Given the description of an element on the screen output the (x, y) to click on. 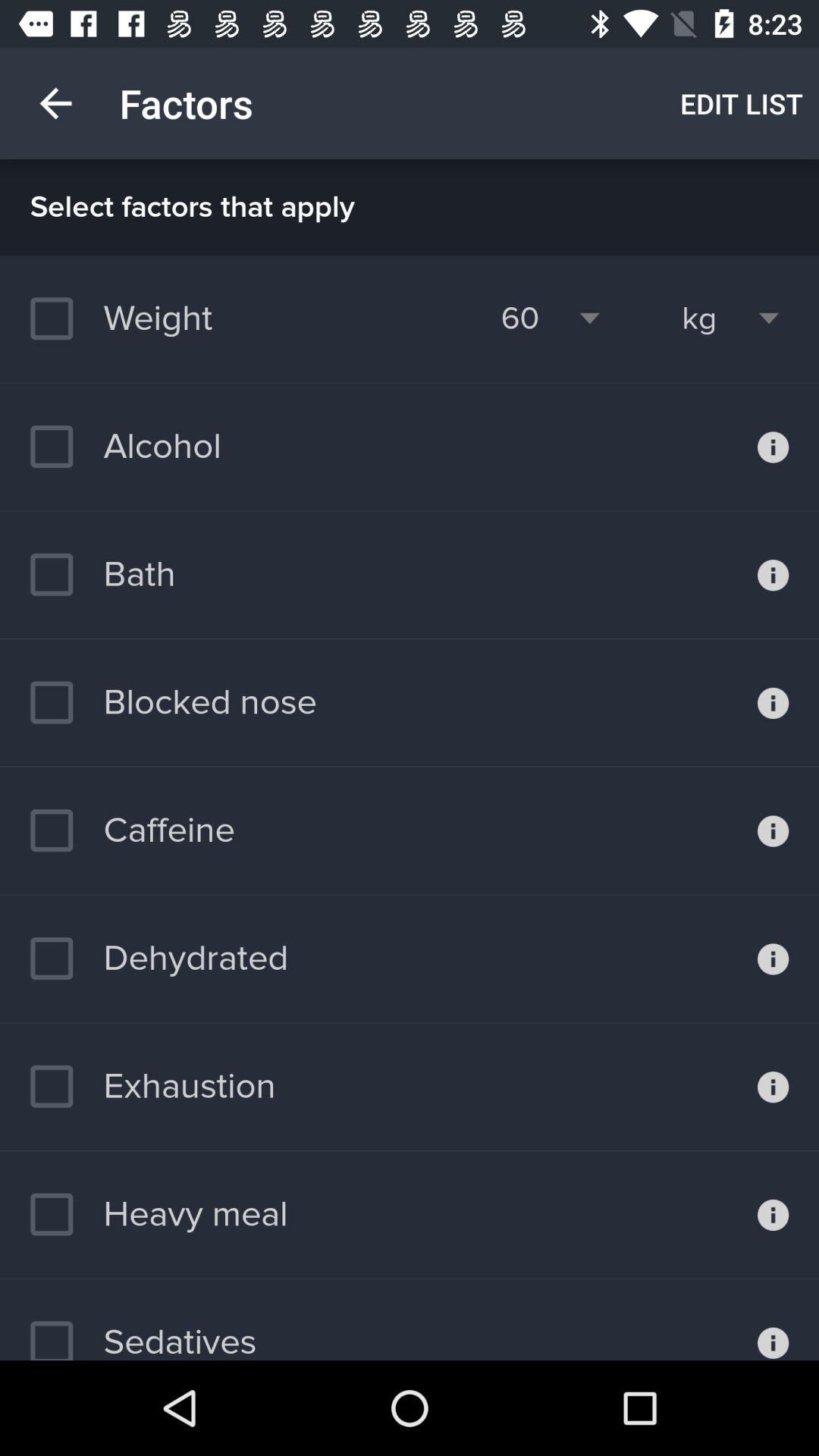
select the item to the left of kg item (519, 318)
